Given the description of an element on the screen output the (x, y) to click on. 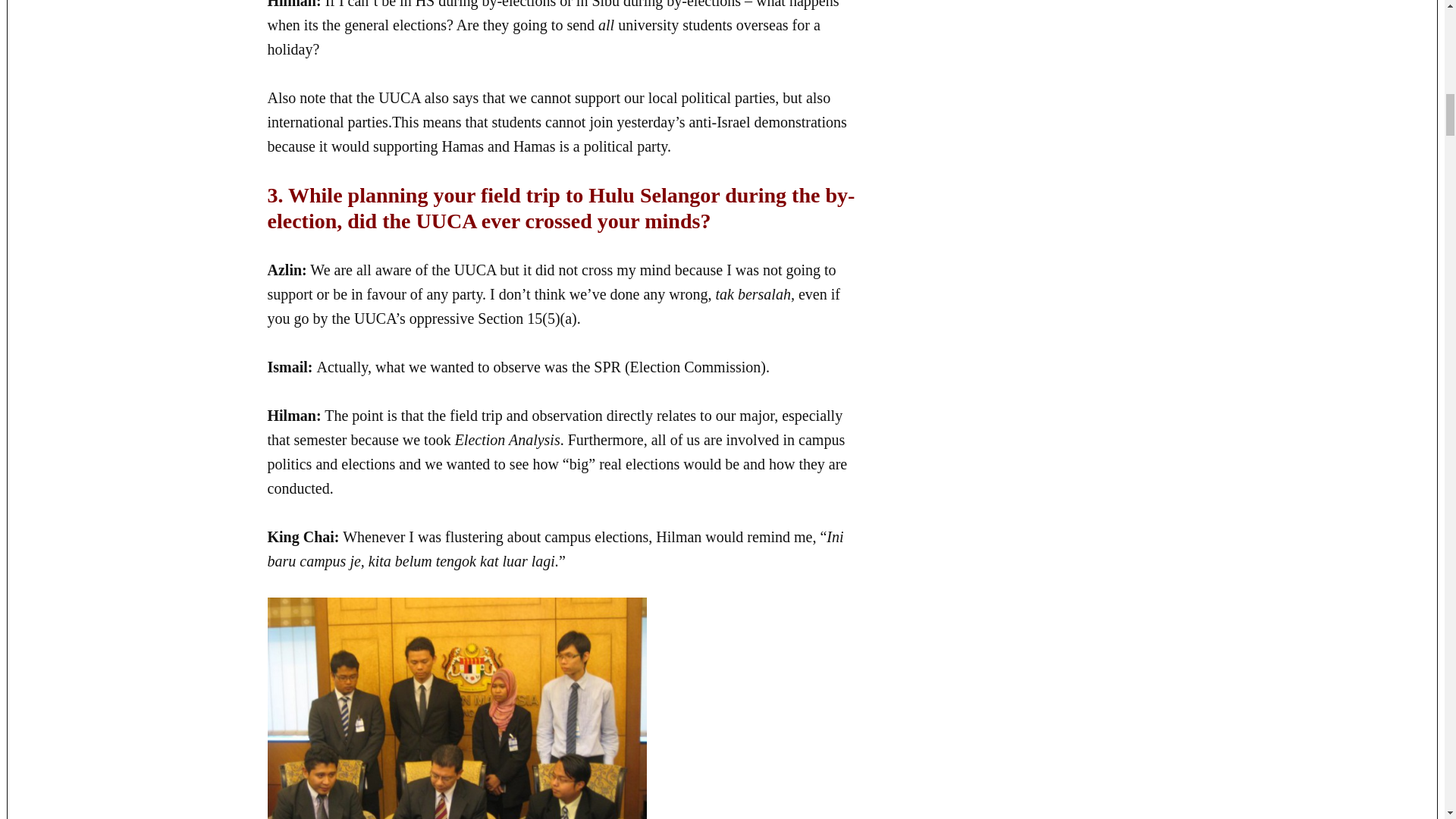
Memo Group Clear (456, 708)
